Given the description of an element on the screen output the (x, y) to click on. 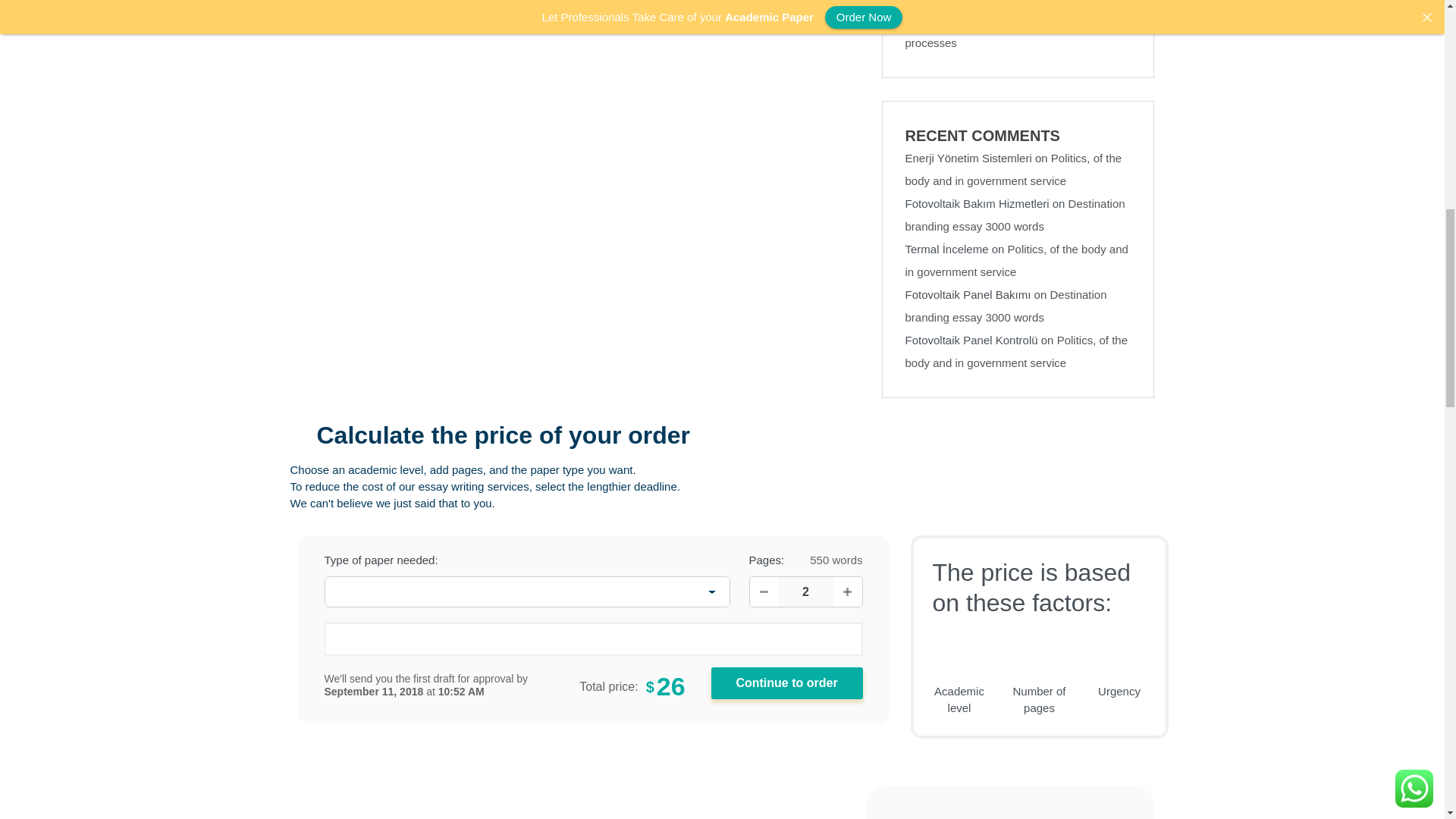
Continue to order (787, 683)
Increase (846, 592)
Politics, of the body and in government service (1013, 169)
Politics, of the body and in government service (1016, 351)
Continue to Order (787, 683)
Destination branding essay 3000 words (1015, 214)
Destination branding essay 3000 words (1005, 305)
2 (804, 591)
Politics, of the body and in government service (1016, 260)
Continue to order (787, 683)
Decrease (763, 592)
